Given the description of an element on the screen output the (x, y) to click on. 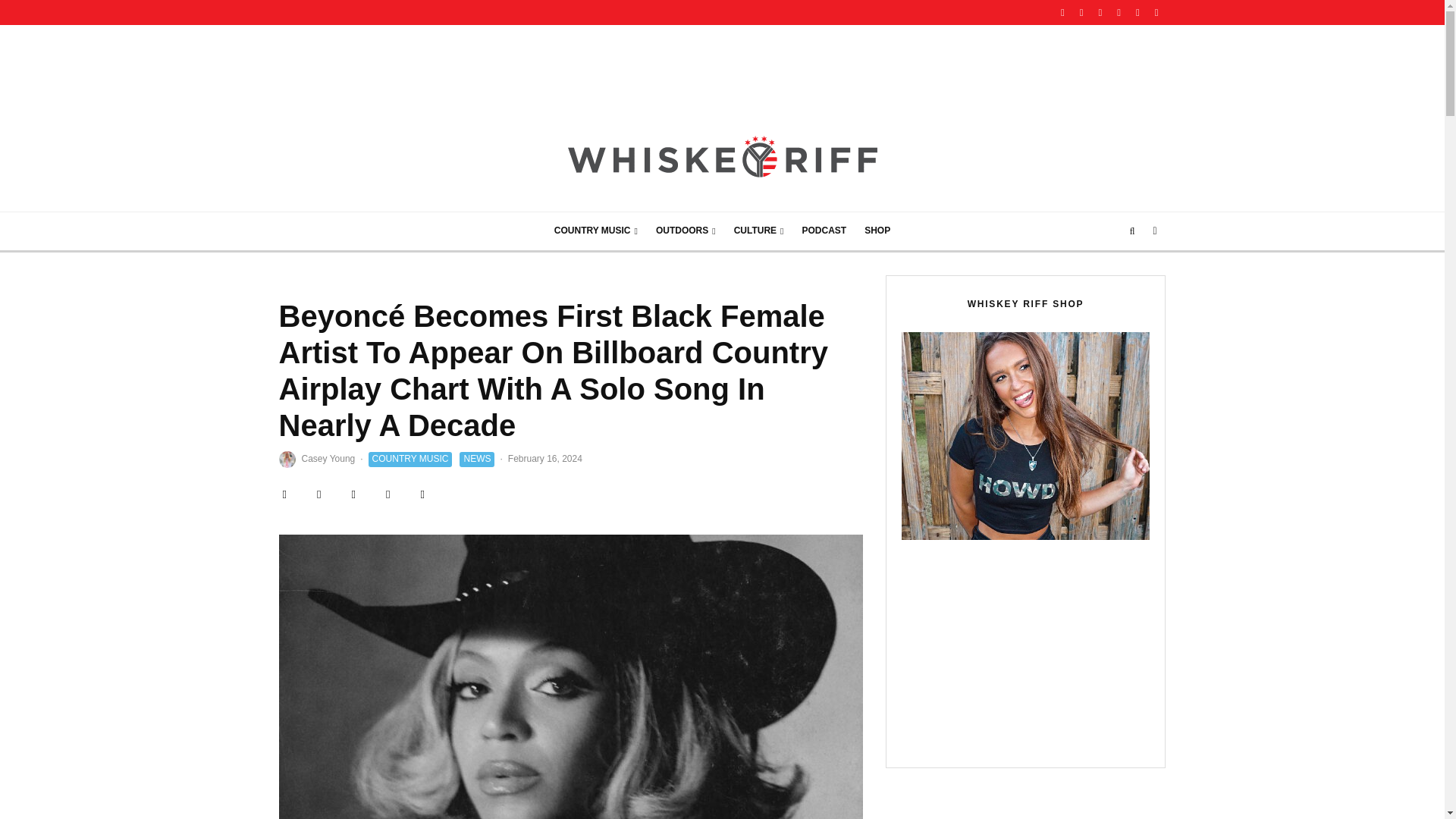
OUTDOORS (685, 231)
COUNTRY MUSIC (595, 231)
CULTURE (759, 231)
